Given the description of an element on the screen output the (x, y) to click on. 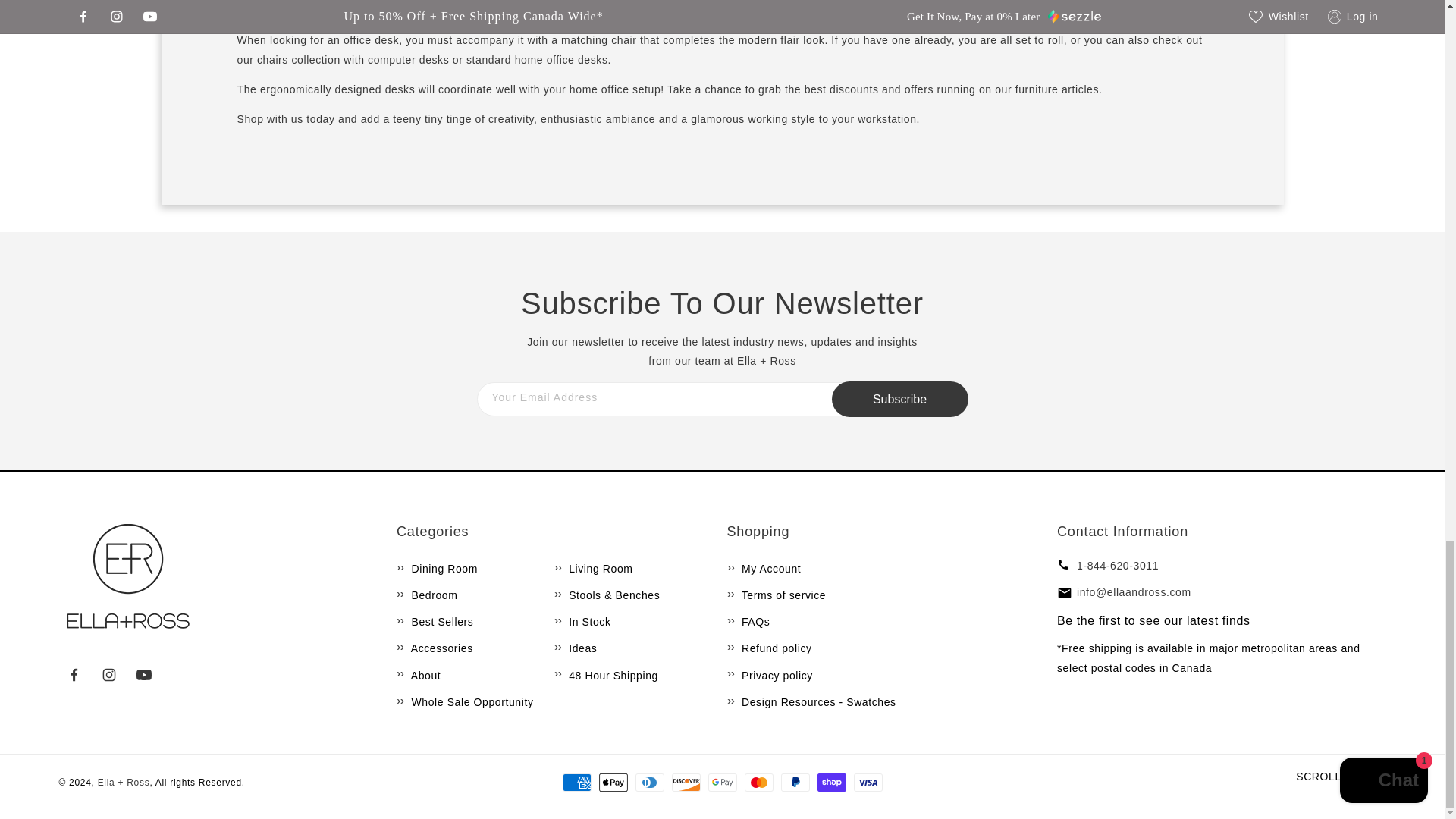
SCROLL TO TOP (1340, 776)
